Given the description of an element on the screen output the (x, y) to click on. 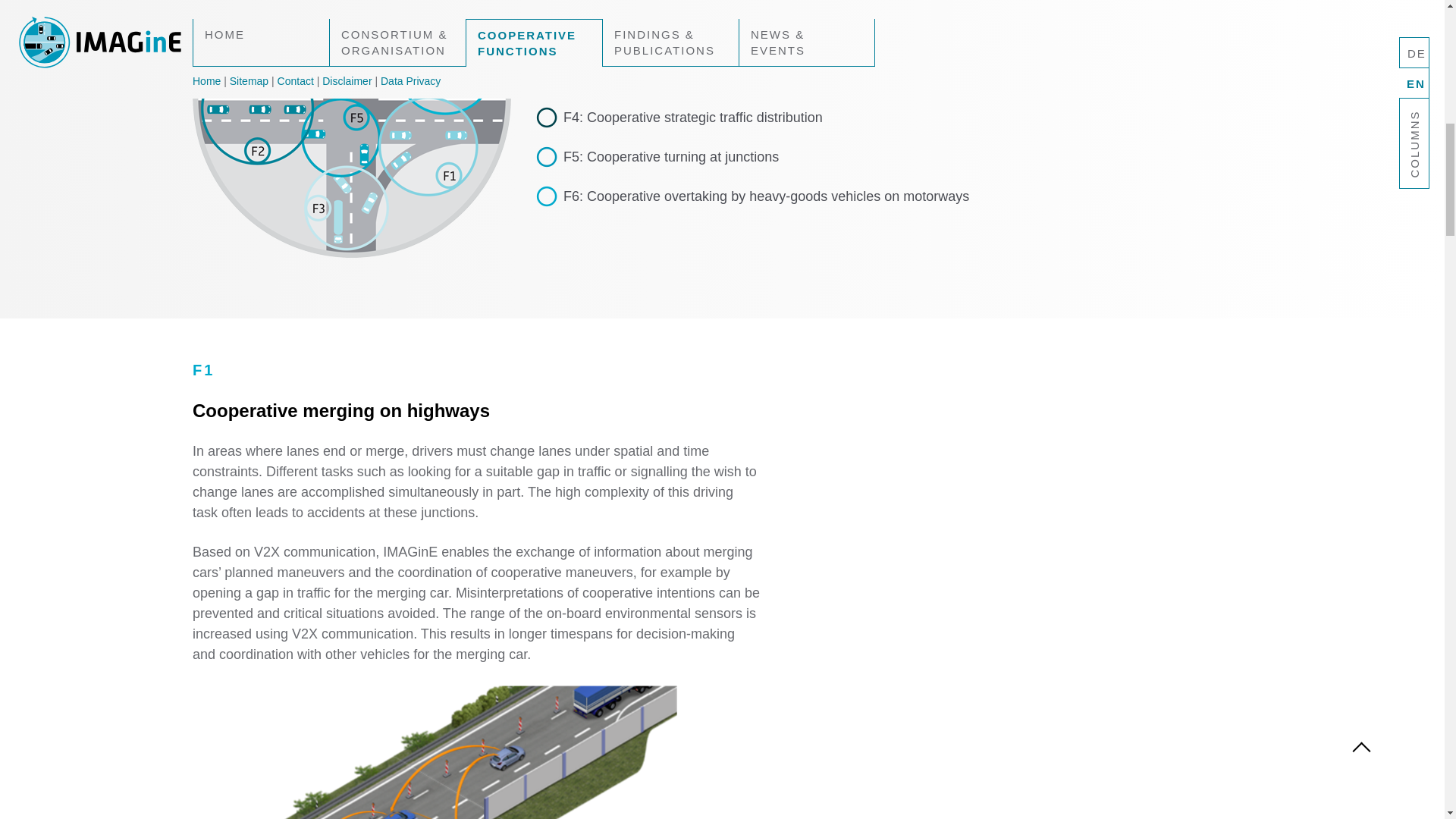
F5: Cooperative turning at junctions (766, 157)
F3: Cooperative overtaking on rural roads (766, 77)
F2: Cooperative longitudinal control on motorways (766, 38)
F4: Cooperative strategic traffic distribution (766, 117)
F1: Cooperative merging on highways (766, 4)
